Given the description of an element on the screen output the (x, y) to click on. 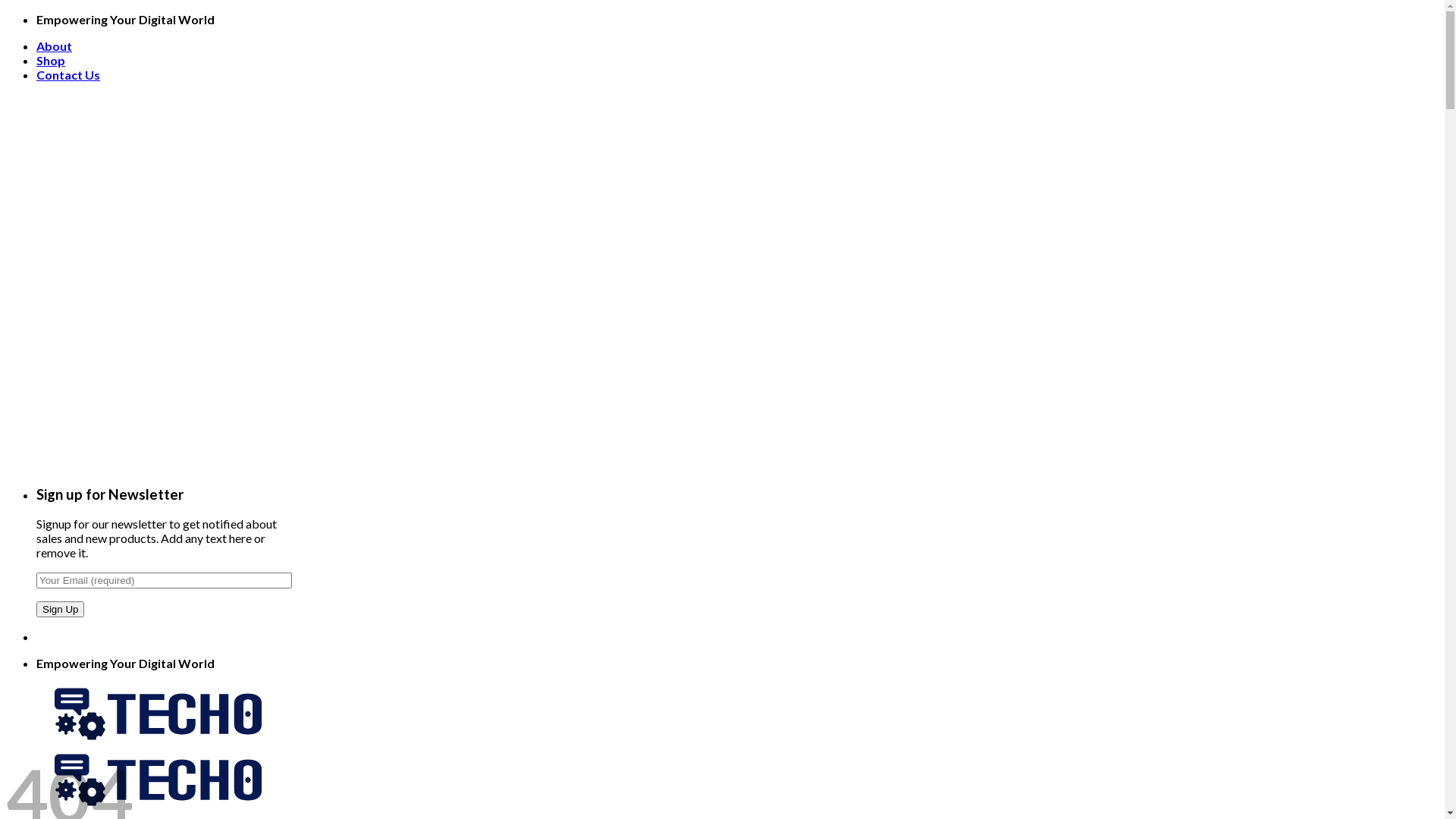
About Element type: text (54, 45)
Shop Element type: text (50, 60)
Skip to content Element type: text (5, 11)
Sign Up Element type: text (60, 609)
Contact Us Element type: text (68, 74)
Techo Element type: hover (157, 774)
